Given the description of an element on the screen output the (x, y) to click on. 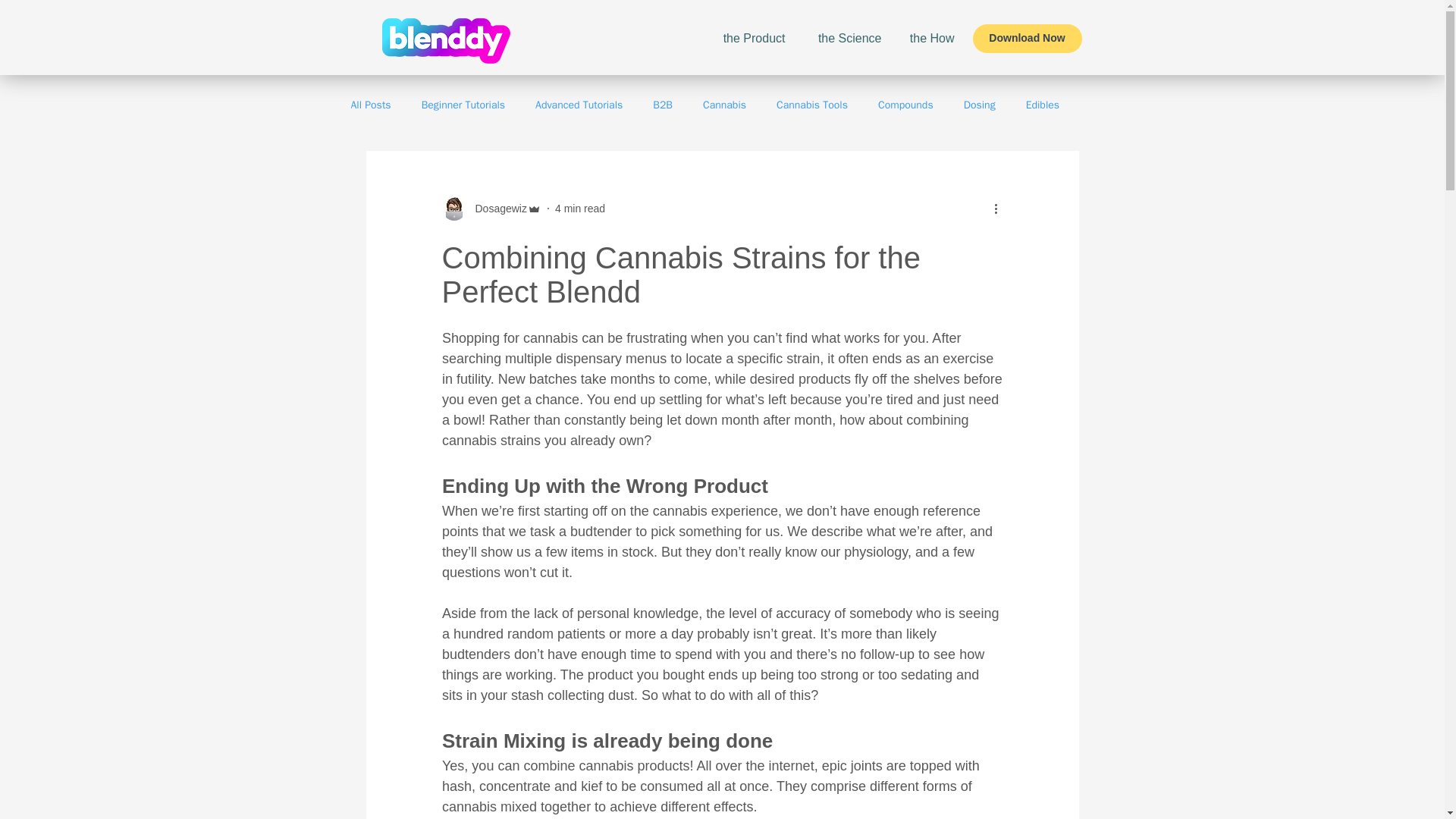
the How (924, 38)
Download Now (1026, 38)
the Product (743, 38)
4 min read (579, 207)
the Science (841, 38)
Cannabis Tools (811, 105)
Dosagewiz (495, 207)
Compounds (905, 105)
Dosing (979, 105)
Edibles (1042, 105)
B2B (662, 105)
Beginner Tutorials (463, 105)
Cannabis (724, 105)
All Posts (370, 105)
Dosagewiz (490, 208)
